Given the description of an element on the screen output the (x, y) to click on. 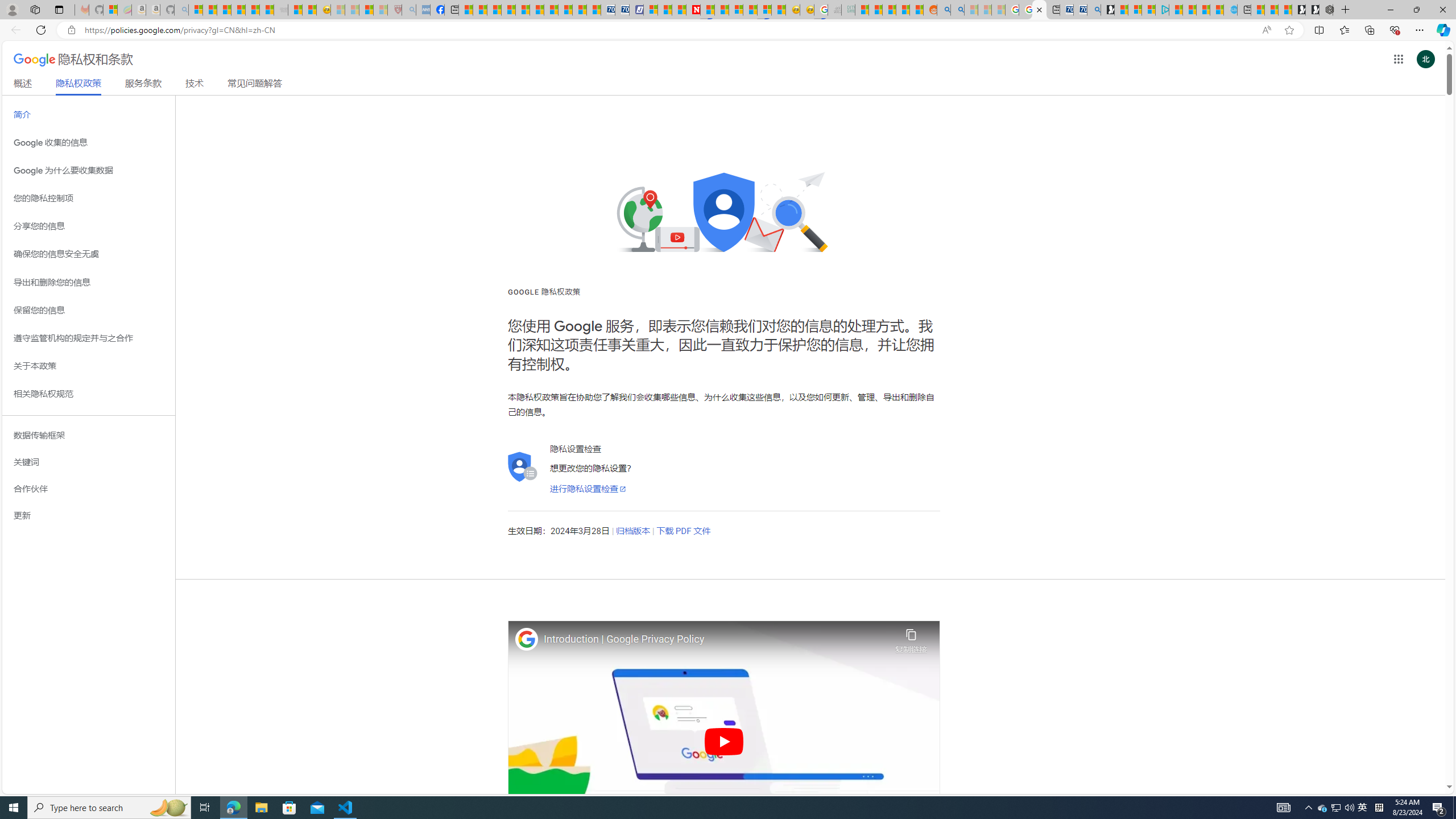
Combat Siege - Sleeping (280, 9)
